Given the description of an element on the screen output the (x, y) to click on. 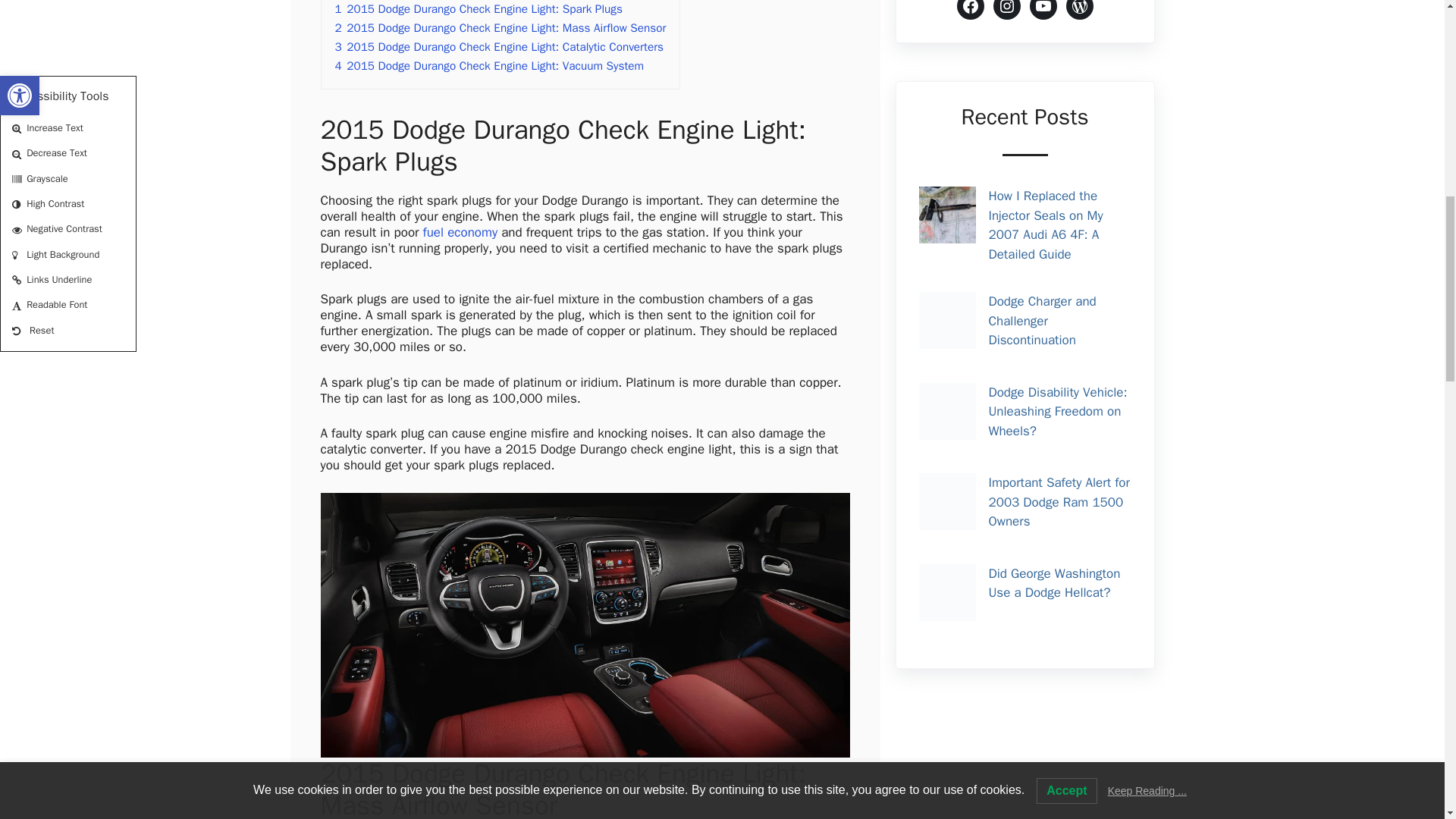
WordPress (1079, 9)
1 2015 Dodge Durango Check Engine Light: Spark Plugs (478, 8)
Did George Washington Use a Dodge Hellcat? 8 (946, 592)
Dodge Disability Vehicle: Unleashing Freedom on Wheels? 6 (946, 411)
Dodge Charger and Challenger Discontinuation 5 (946, 319)
YouTube (1043, 9)
Instagram (1006, 9)
Important Safety Alert for 2003 Dodge Ram 1500 Owners 7 (946, 501)
4 2015 Dodge Durango Check Engine Light: Vacuum System (489, 65)
